Given the description of an element on the screen output the (x, y) to click on. 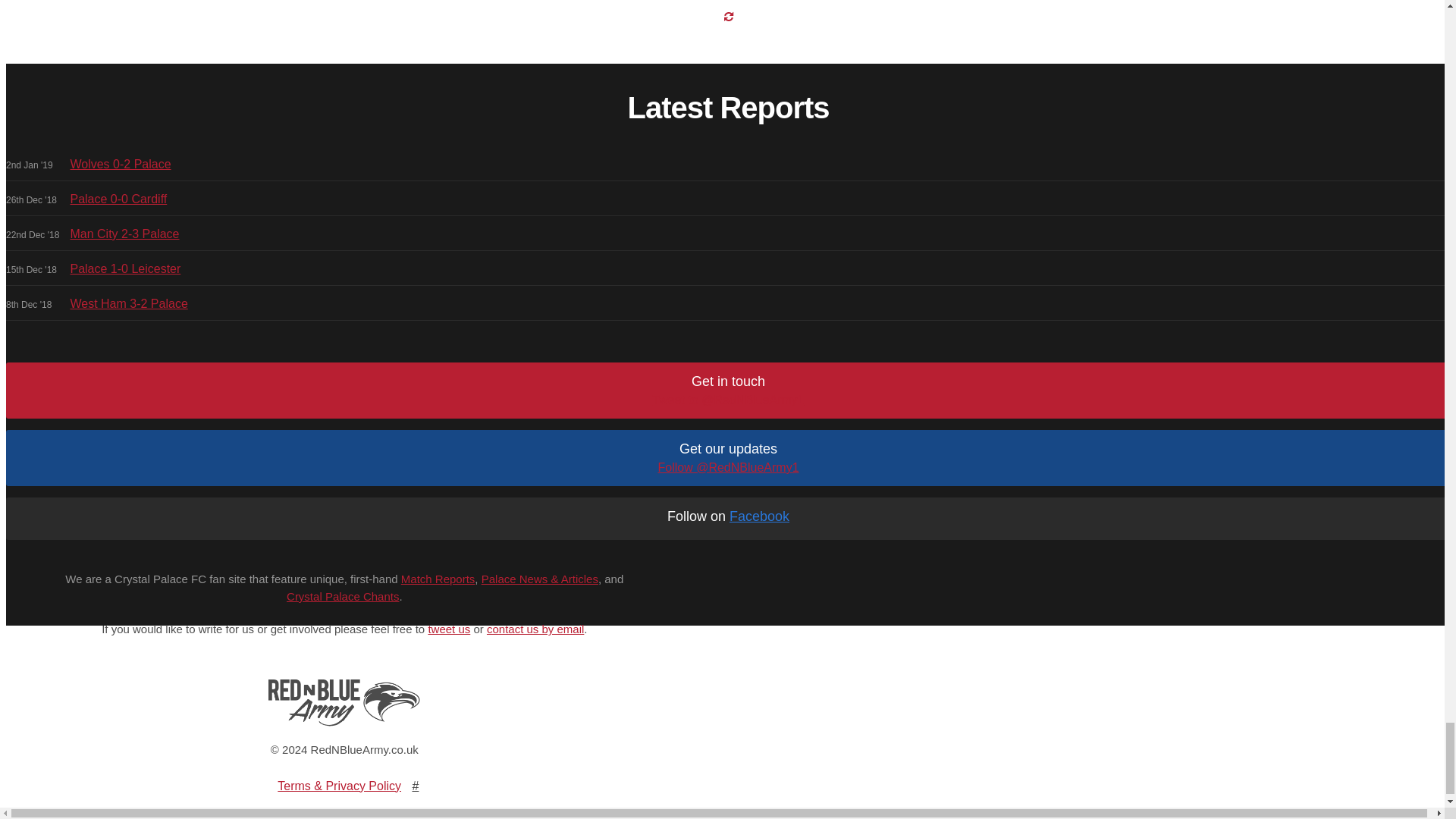
Facebook (759, 516)
Palace 0-0 Cardiff (118, 198)
Wolves 0-2 Palace (119, 164)
Man City 2-3 Palace (124, 233)
West Ham 3-2 Palace (128, 303)
Palace 1-0 Leicester (124, 268)
